Given the description of an element on the screen output the (x, y) to click on. 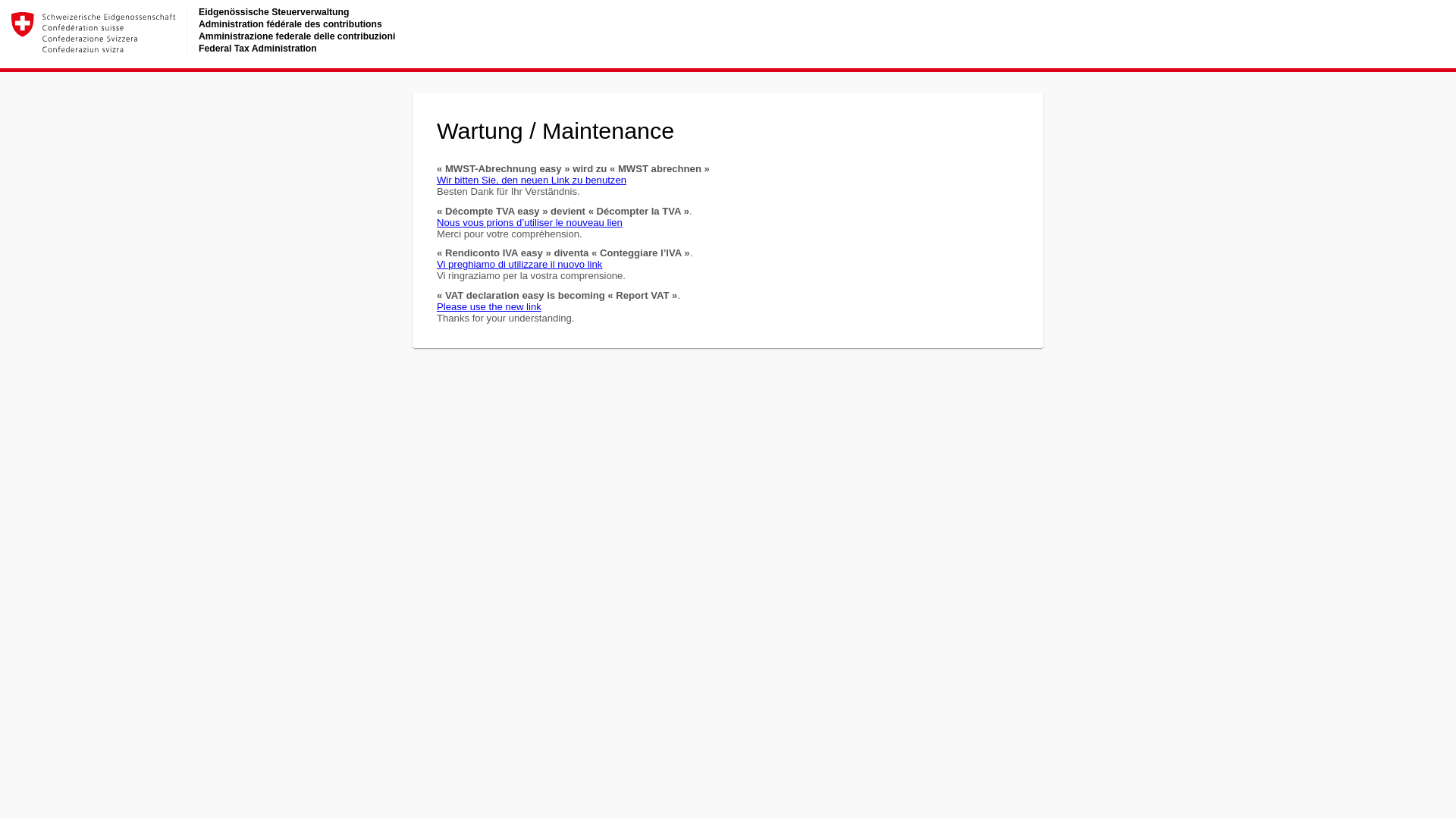
Please use the new link Element type: text (488, 306)
Wir bitten Sie, den neuen Link zu benutzen Element type: text (531, 179)
Vi preghiamo di utilizzare il nuovo link Element type: text (519, 263)
